Given the description of an element on the screen output the (x, y) to click on. 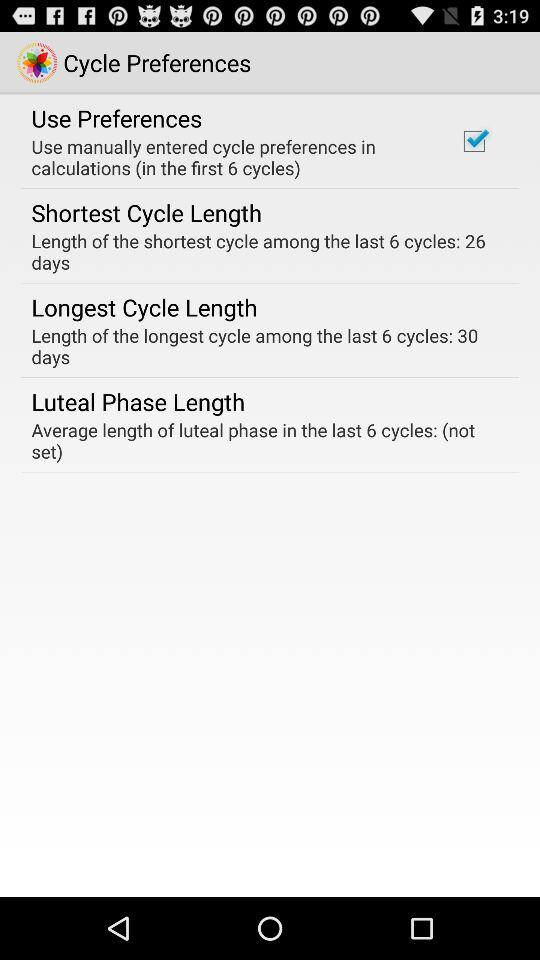
tap use manually entered item (231, 157)
